Given the description of an element on the screen output the (x, y) to click on. 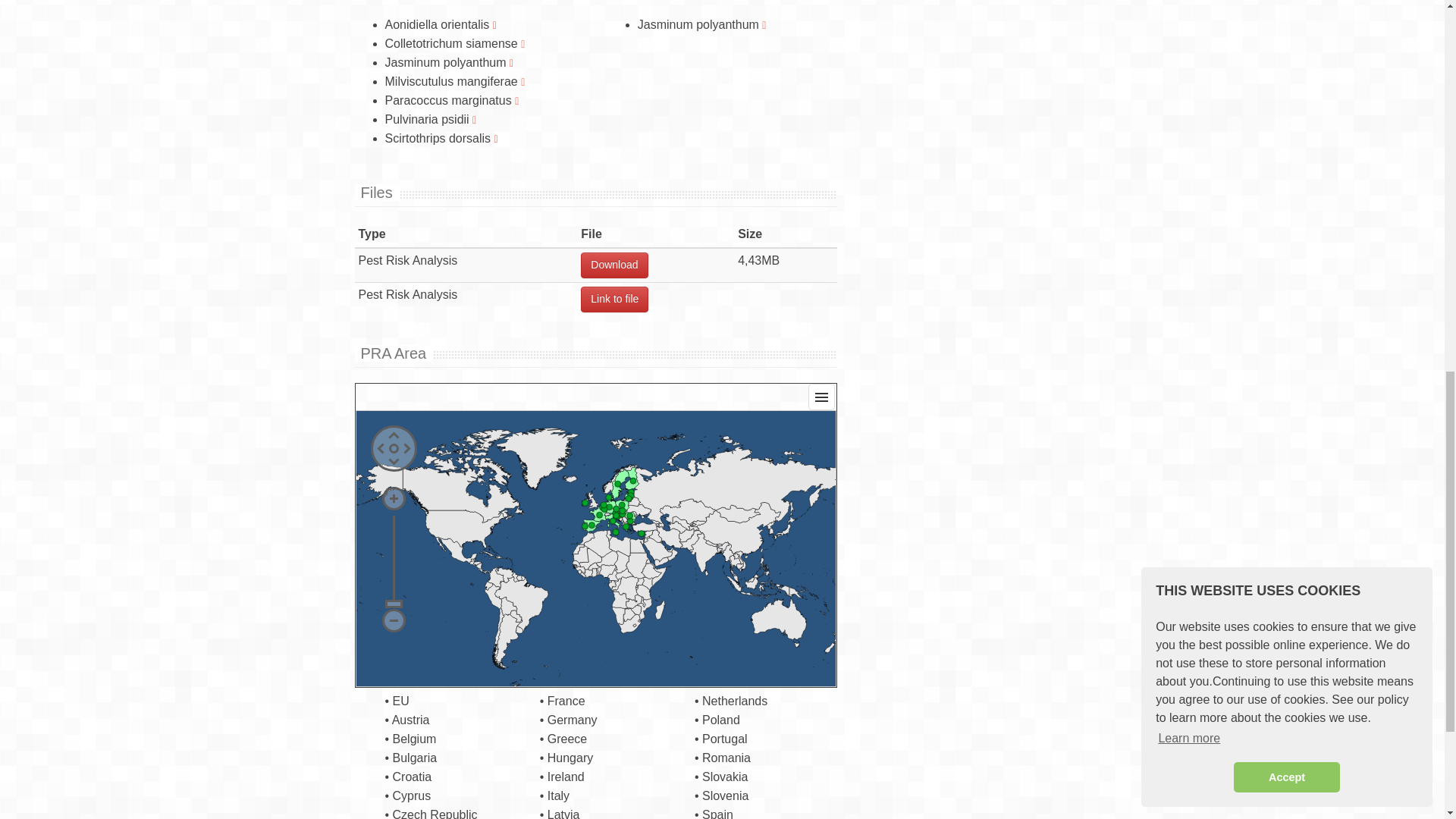
Link to file (613, 299)
Download (613, 265)
link (613, 299)
